Given the description of an element on the screen output the (x, y) to click on. 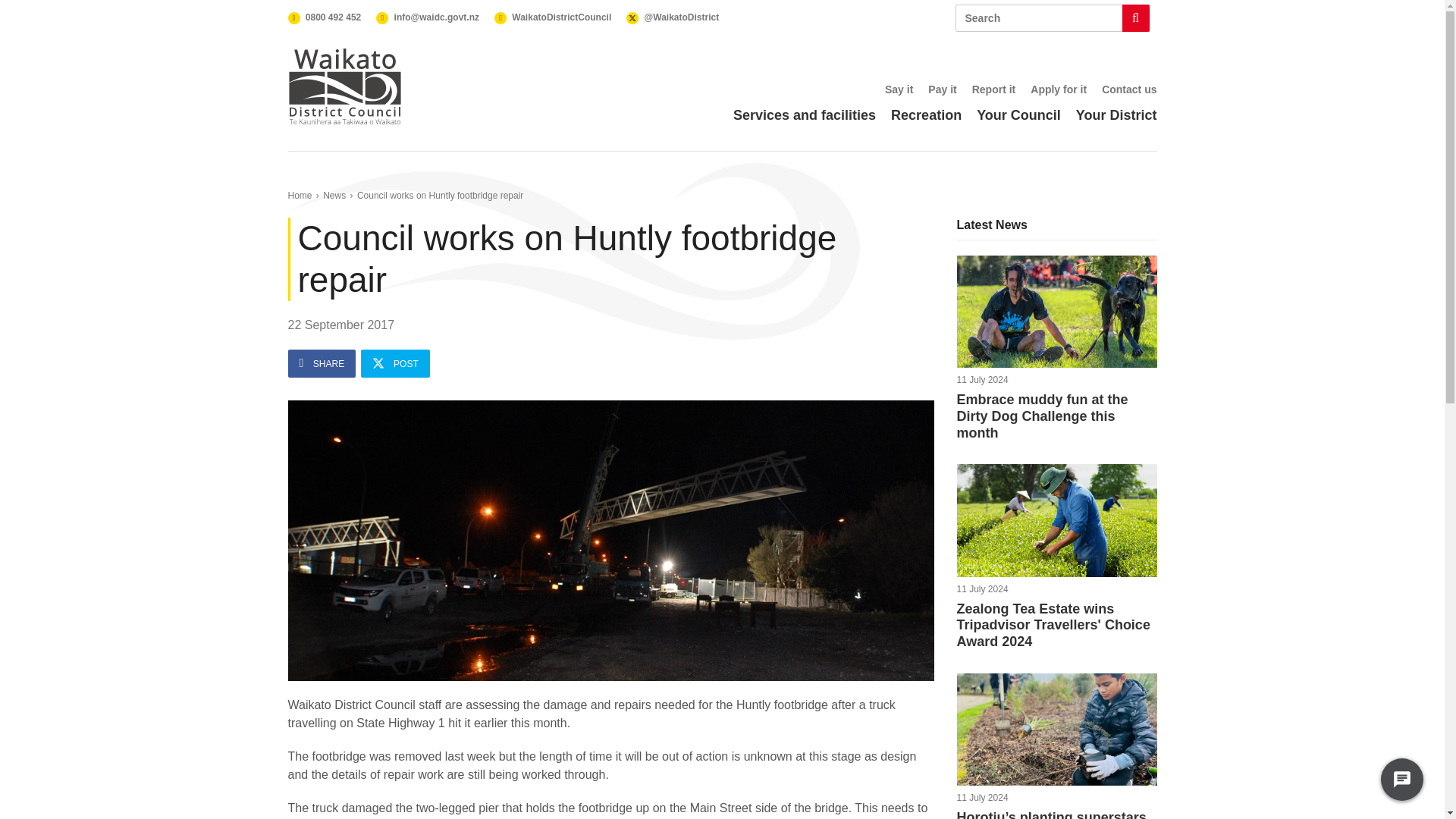
Apply for it (1058, 89)
Your District (1116, 114)
Messenger Launcher (1401, 782)
Home (300, 195)
Services and facilities (804, 114)
Say it (898, 89)
WaikatoDistrictCouncil (553, 17)
0800 492 452 (324, 17)
Dirty Dog challenge (1056, 311)
ZeaLong0005 (1056, 520)
Contact us (1129, 89)
Pay it (942, 89)
